Given the description of an element on the screen output the (x, y) to click on. 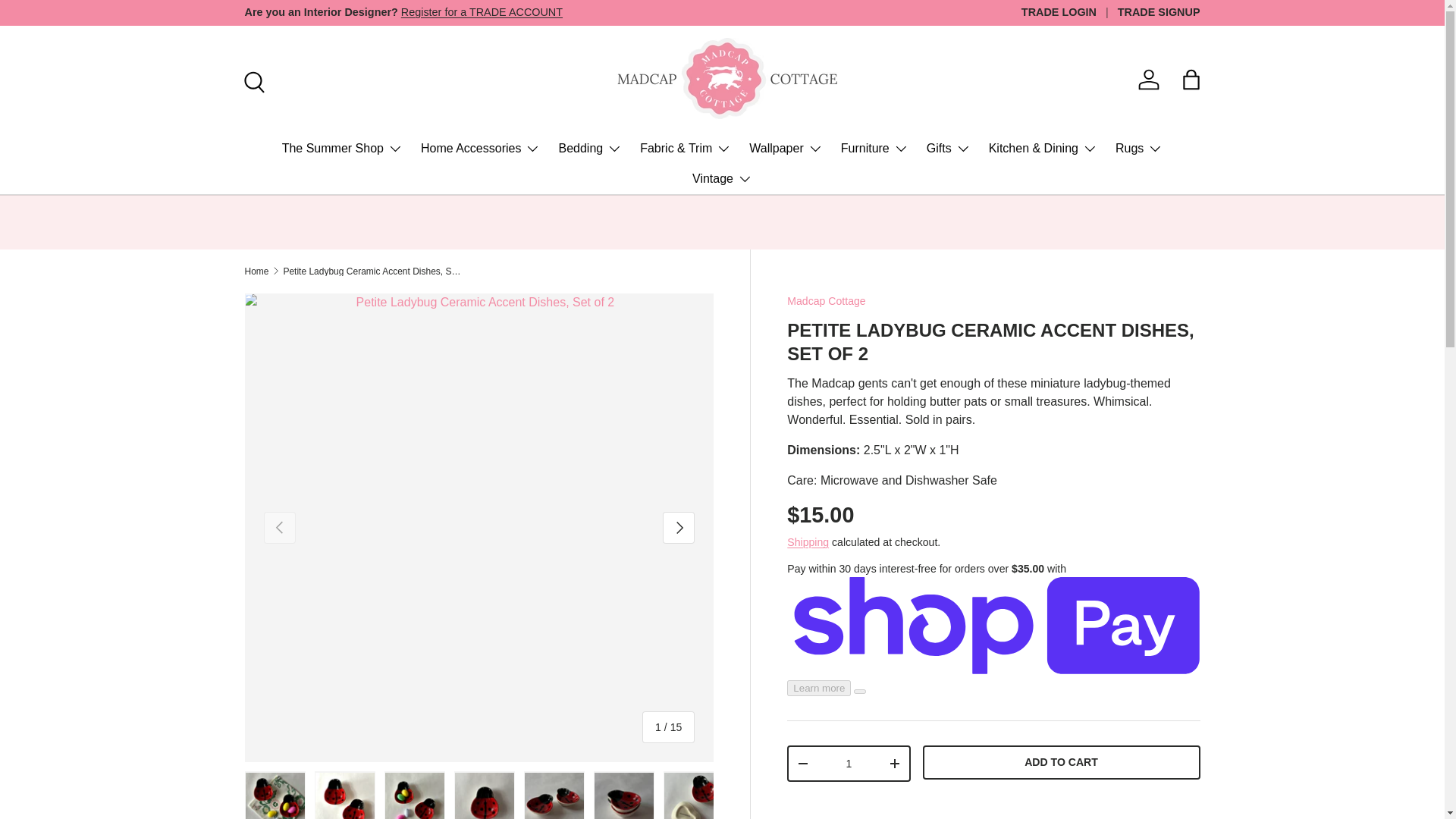
1 (847, 763)
Search (250, 80)
The Summer Shop (342, 148)
TRADE SIGNUP (1158, 12)
SKIP TO CONTENT (69, 21)
Log in (1149, 79)
Register for a TRADE ACCOUNT (481, 11)
TRADE LOGIN (1070, 12)
Bag (1191, 79)
Home Accessories (480, 148)
